Given the description of an element on the screen output the (x, y) to click on. 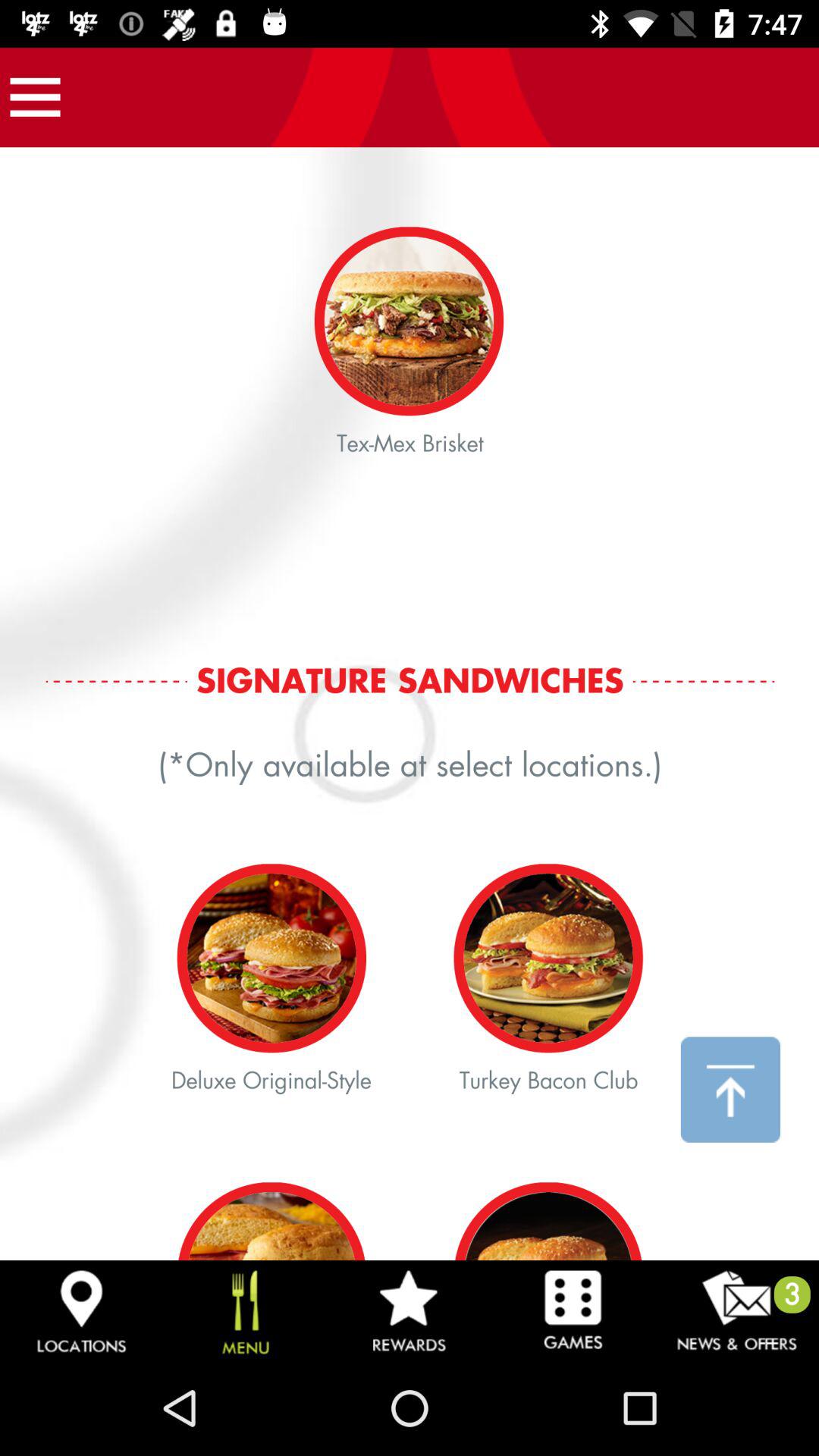
more (35, 97)
